Given the description of an element on the screen output the (x, y) to click on. 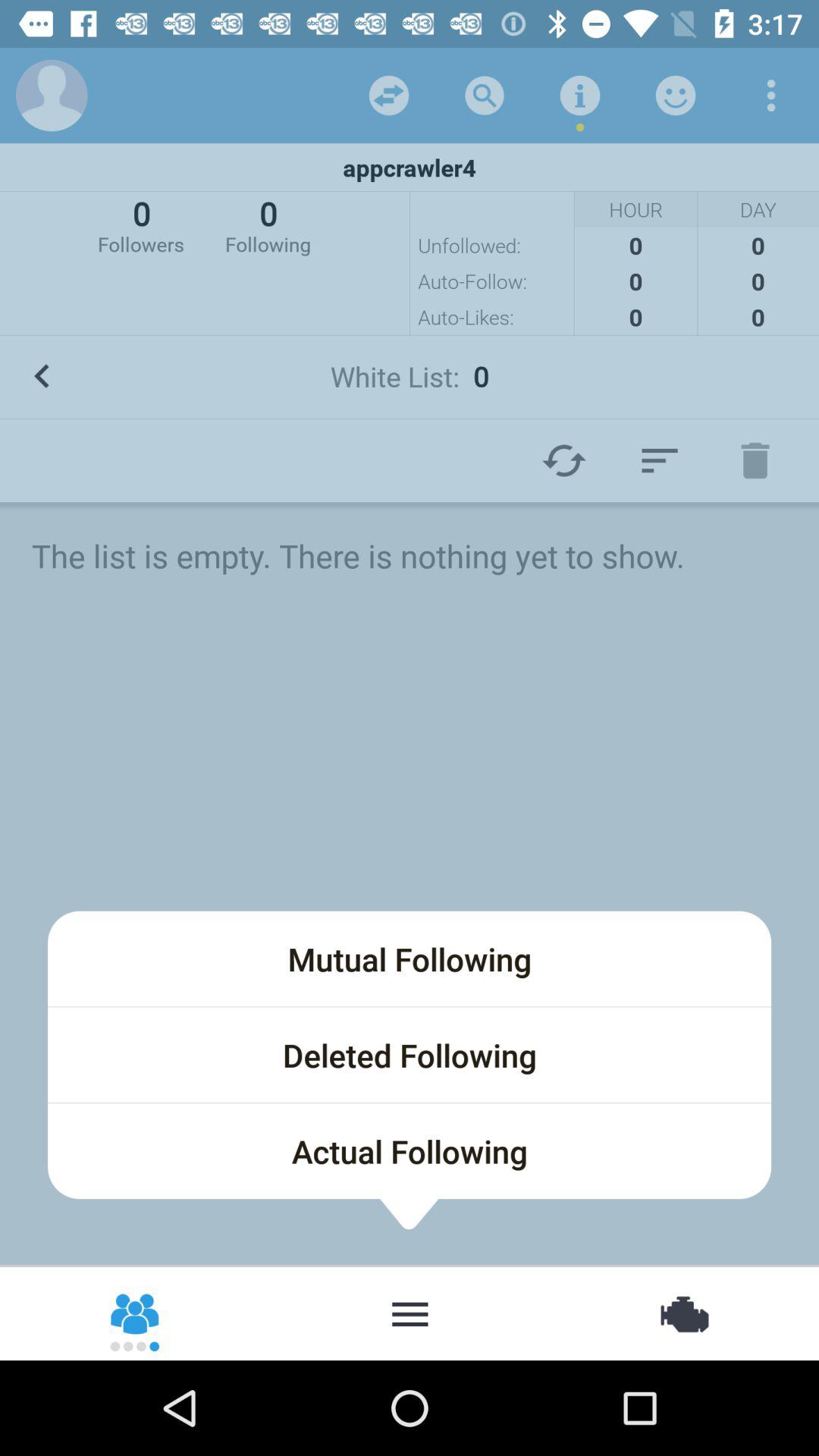
tap the icon above the appcrawler4 icon (484, 95)
